Given the description of an element on the screen output the (x, y) to click on. 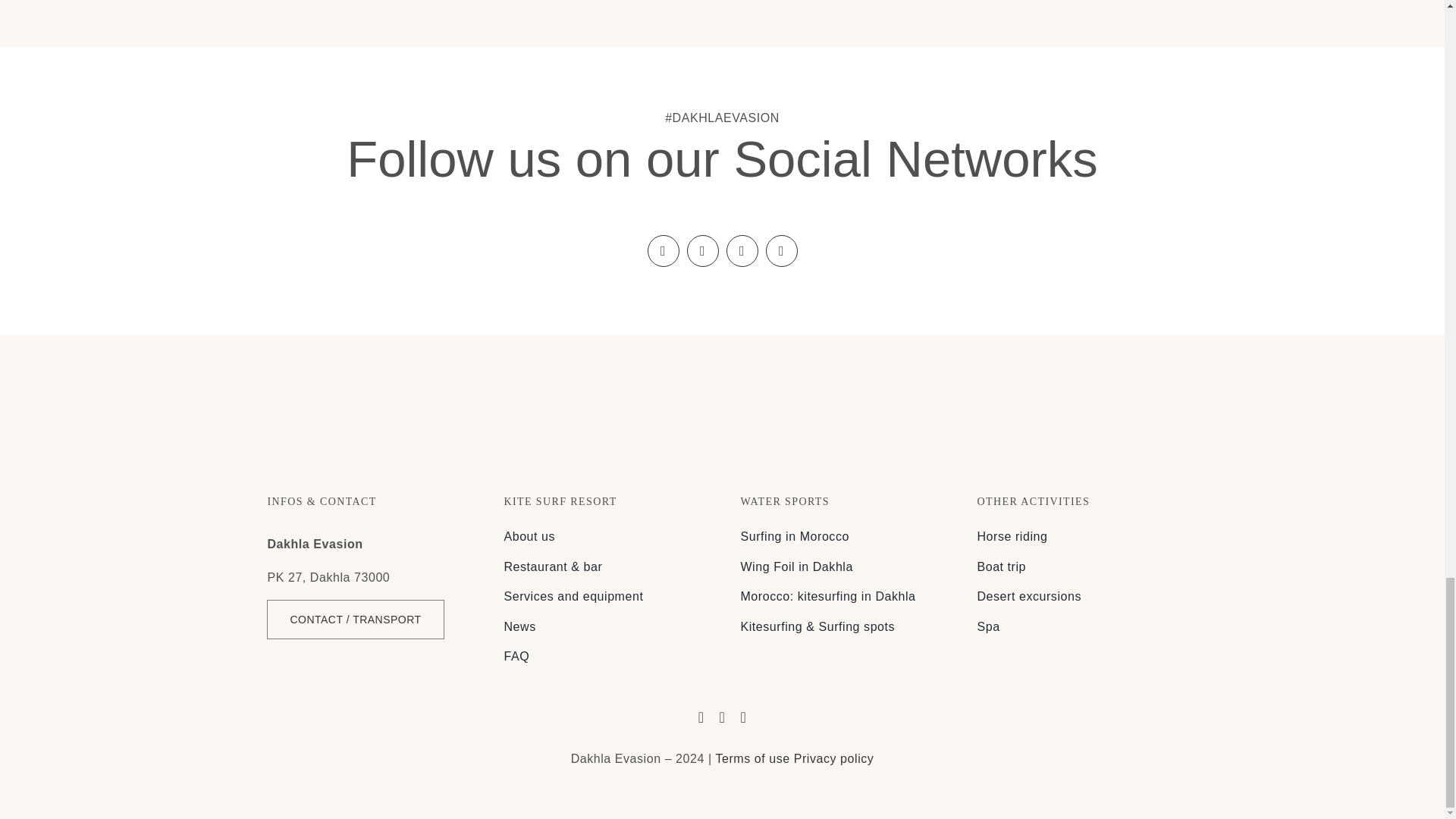
Facebook (663, 250)
Vimeo (742, 250)
Email (781, 250)
dakhla-logo (722, 413)
Instagram (703, 250)
